Given the description of an element on the screen output the (x, y) to click on. 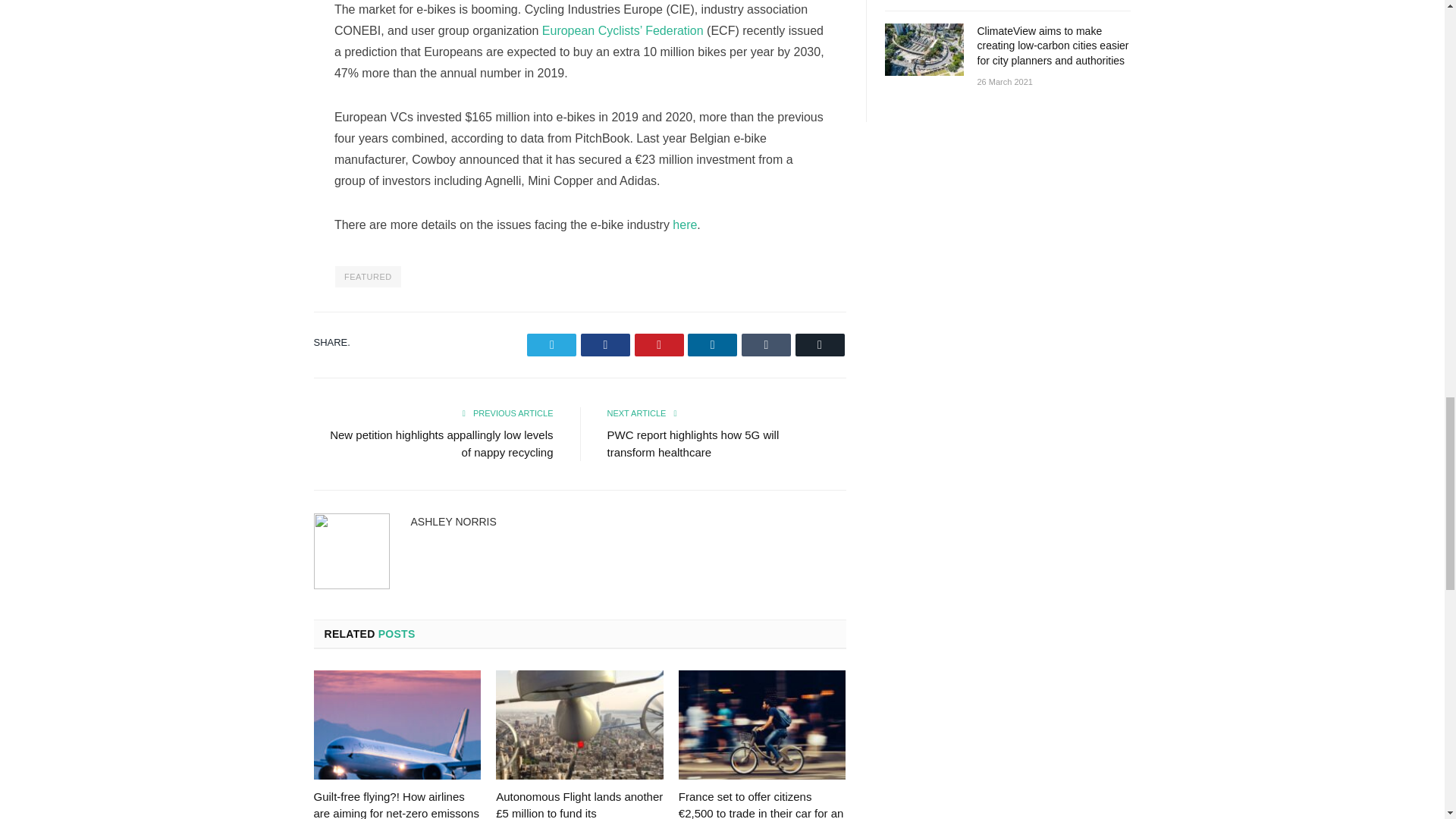
ASHLEY NORRIS (453, 521)
LinkedIn (711, 344)
Email (819, 344)
Facebook (605, 344)
PWC report highlights how 5G will transform healthcare (692, 443)
Twitter (551, 344)
Posts by Ashley Norris (453, 521)
here (684, 224)
Tumblr (765, 344)
FEATURED (367, 276)
Pinterest (659, 344)
